Given the description of an element on the screen output the (x, y) to click on. 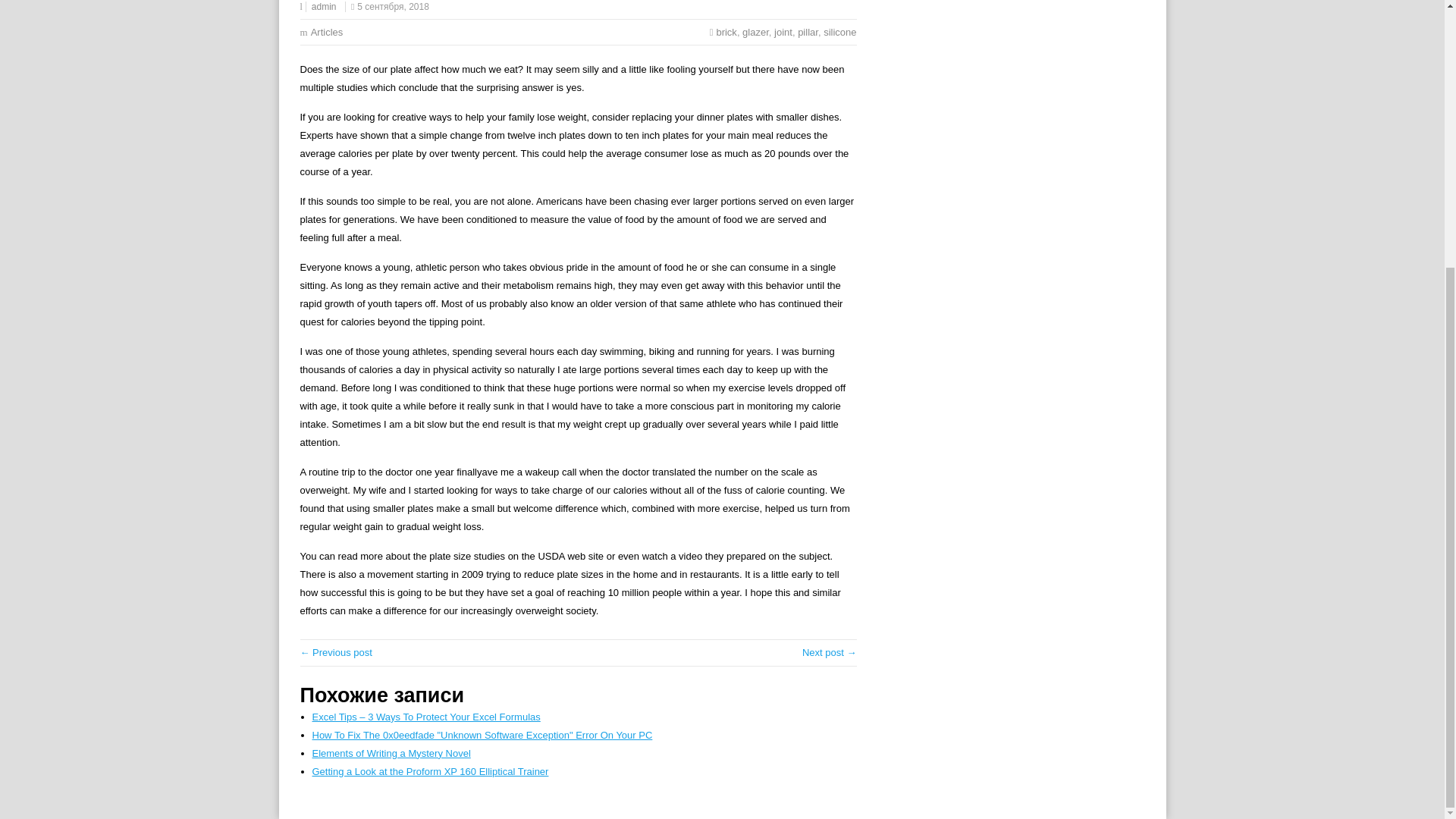
joint (783, 31)
admin (323, 6)
glazer (755, 31)
pillar (807, 31)
Getting a Look at the Proform XP 160 Elliptical Trainer (430, 771)
silicone (840, 31)
brick (726, 31)
Elements of Writing a Mystery Novel (391, 753)
Articles (327, 31)
